Given the description of an element on the screen output the (x, y) to click on. 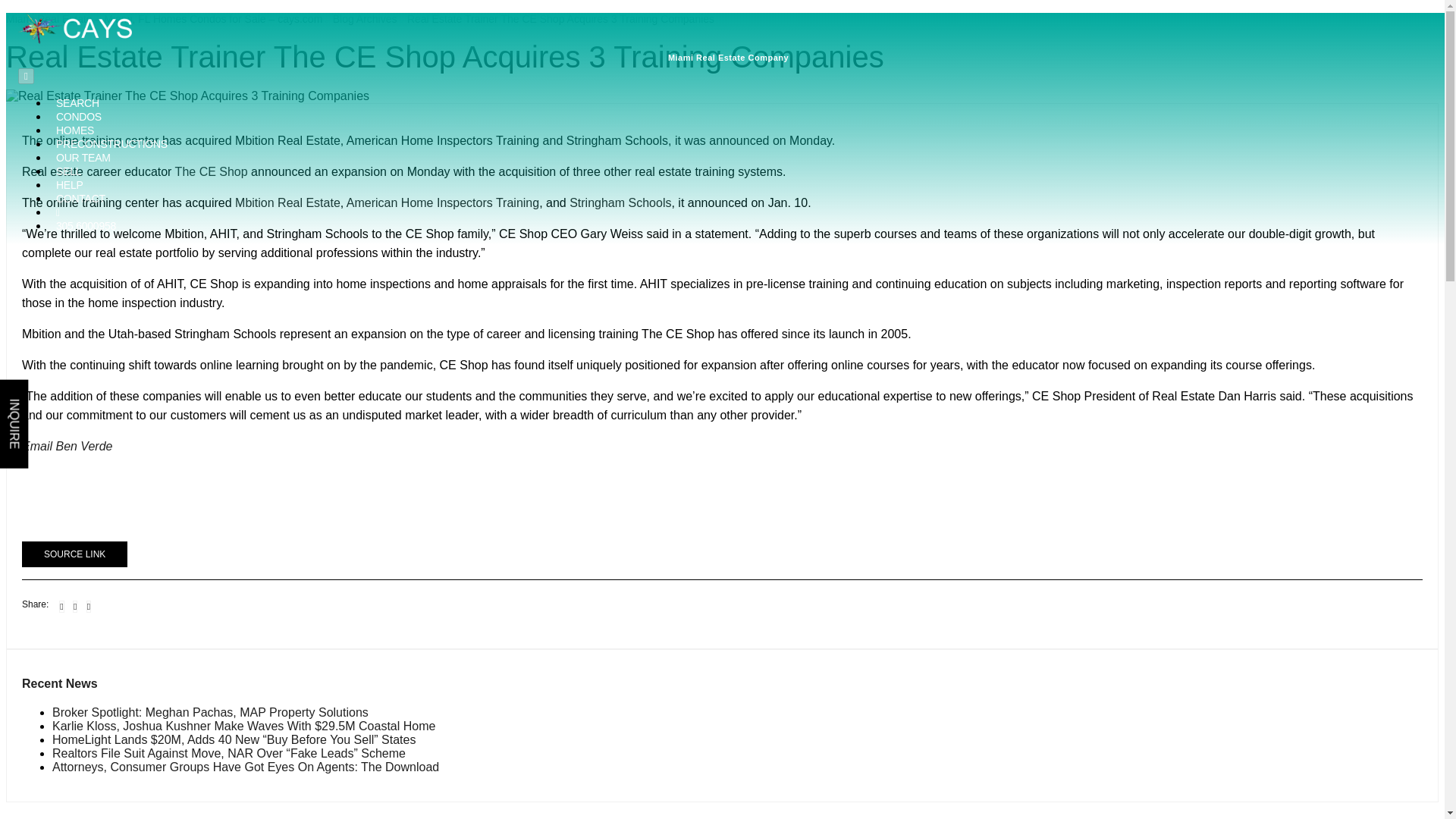
HOMES (75, 130)
CONTACT (80, 198)
HELP (69, 184)
Miami Preconstructions (111, 143)
305.6000958 (86, 225)
SOURCE LINK (74, 554)
The CE Shop (210, 171)
Email Ben Verde (66, 445)
List Your Property (68, 171)
